Given the description of an element on the screen output the (x, y) to click on. 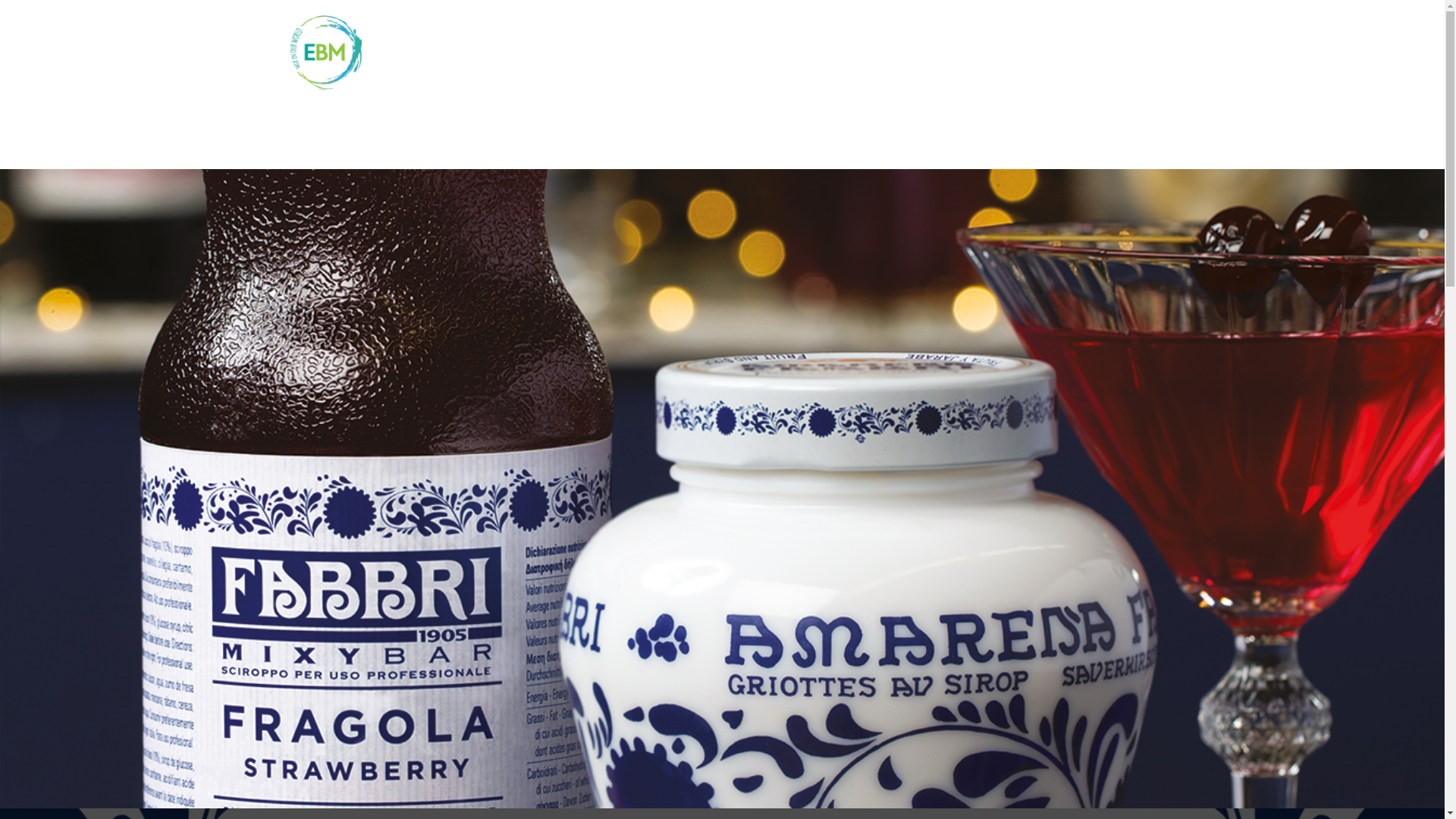
Ethnic Brand Marketing (325, 51)
Our Brands (900, 53)
Our World (973, 53)
Contact Us (1043, 53)
About Us (829, 53)
Buy Online (1117, 53)
